Given the description of an element on the screen output the (x, y) to click on. 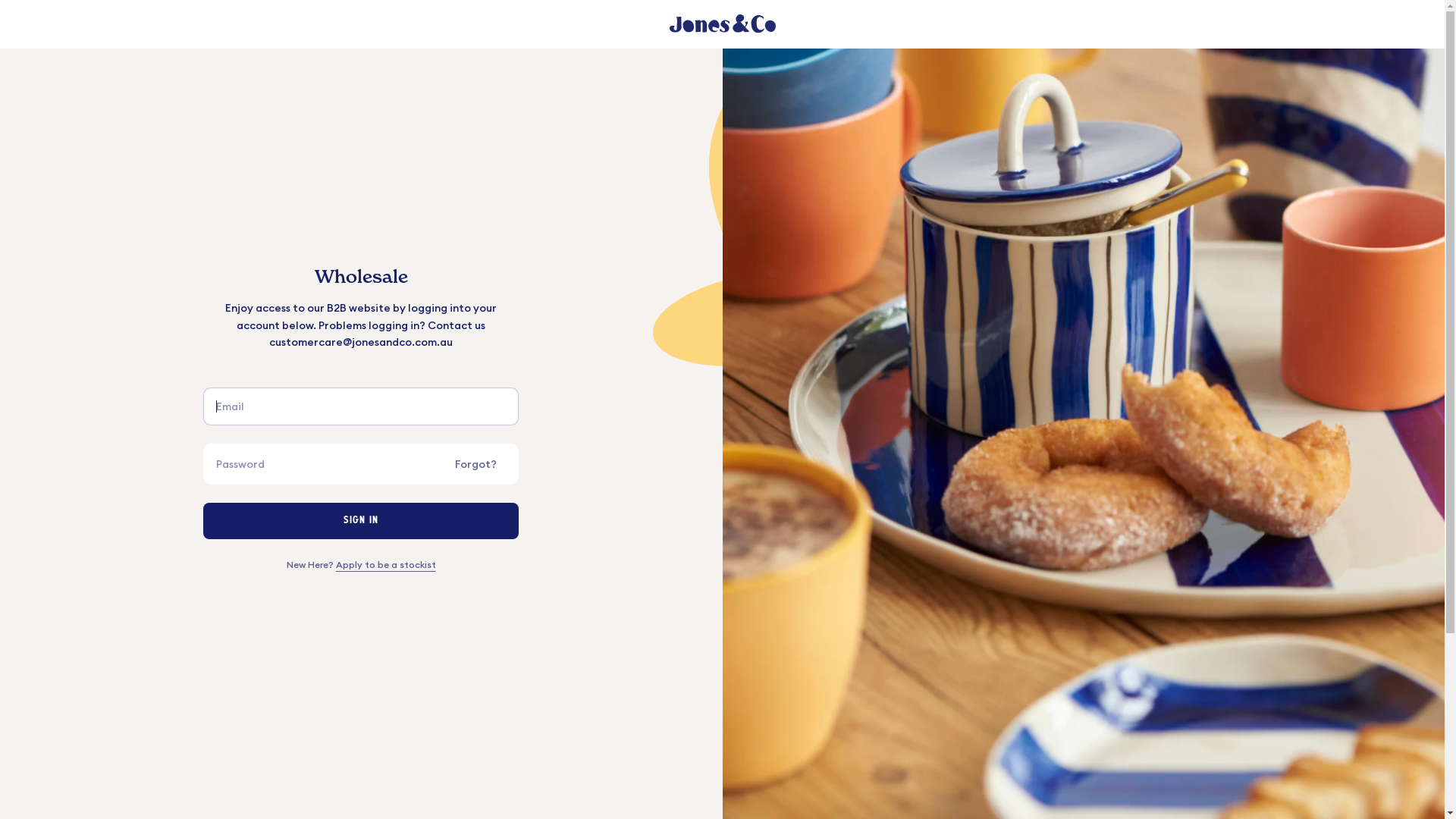
Apply to be a stockist Element type: text (385, 564)
Jones & Co Wholesale
Jones & Co Wholesale Element type: text (721, 24)
Sign In Element type: text (360, 520)
Forgot? Element type: text (480, 463)
